Given the description of an element on the screen output the (x, y) to click on. 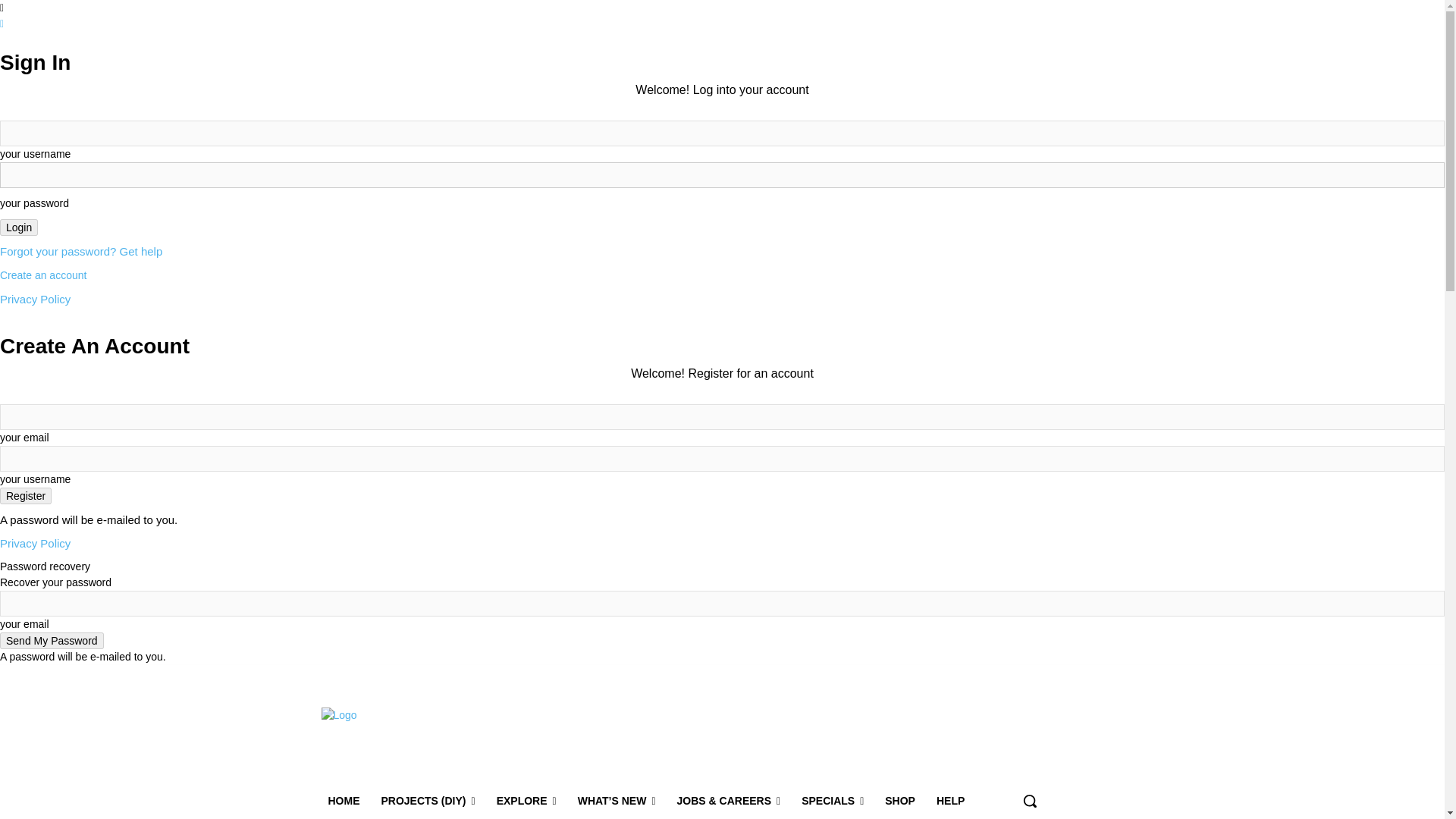
Login (18, 227)
Facebook (889, 675)
Send My Password (51, 640)
Youtube (975, 675)
Register (25, 495)
Twitter (953, 675)
Linkedin (931, 675)
Instagram (911, 675)
